Given the description of an element on the screen output the (x, y) to click on. 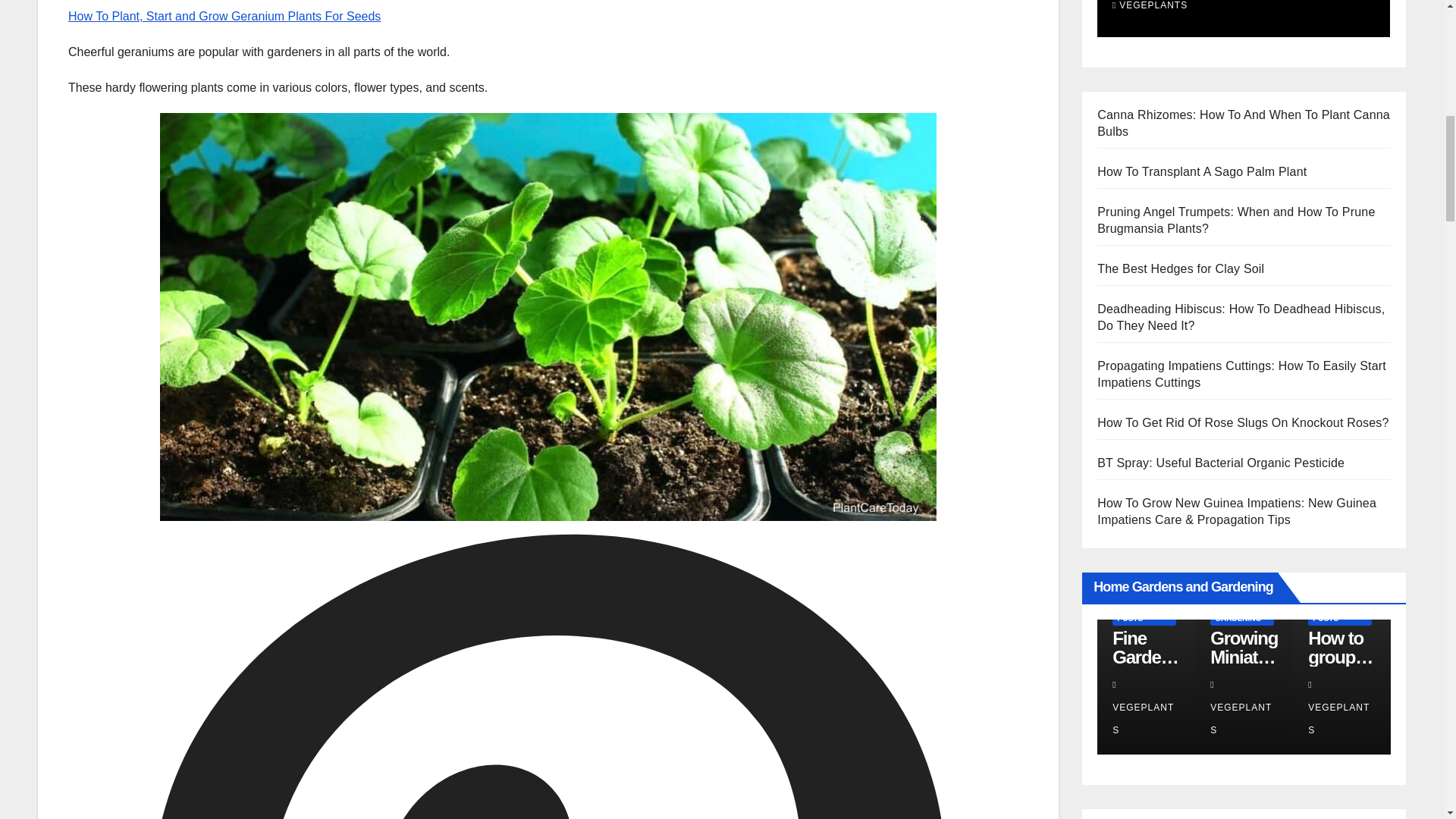
How To Plant, Start and Grow Geranium Plants For Seeds (224, 15)
